Given the description of an element on the screen output the (x, y) to click on. 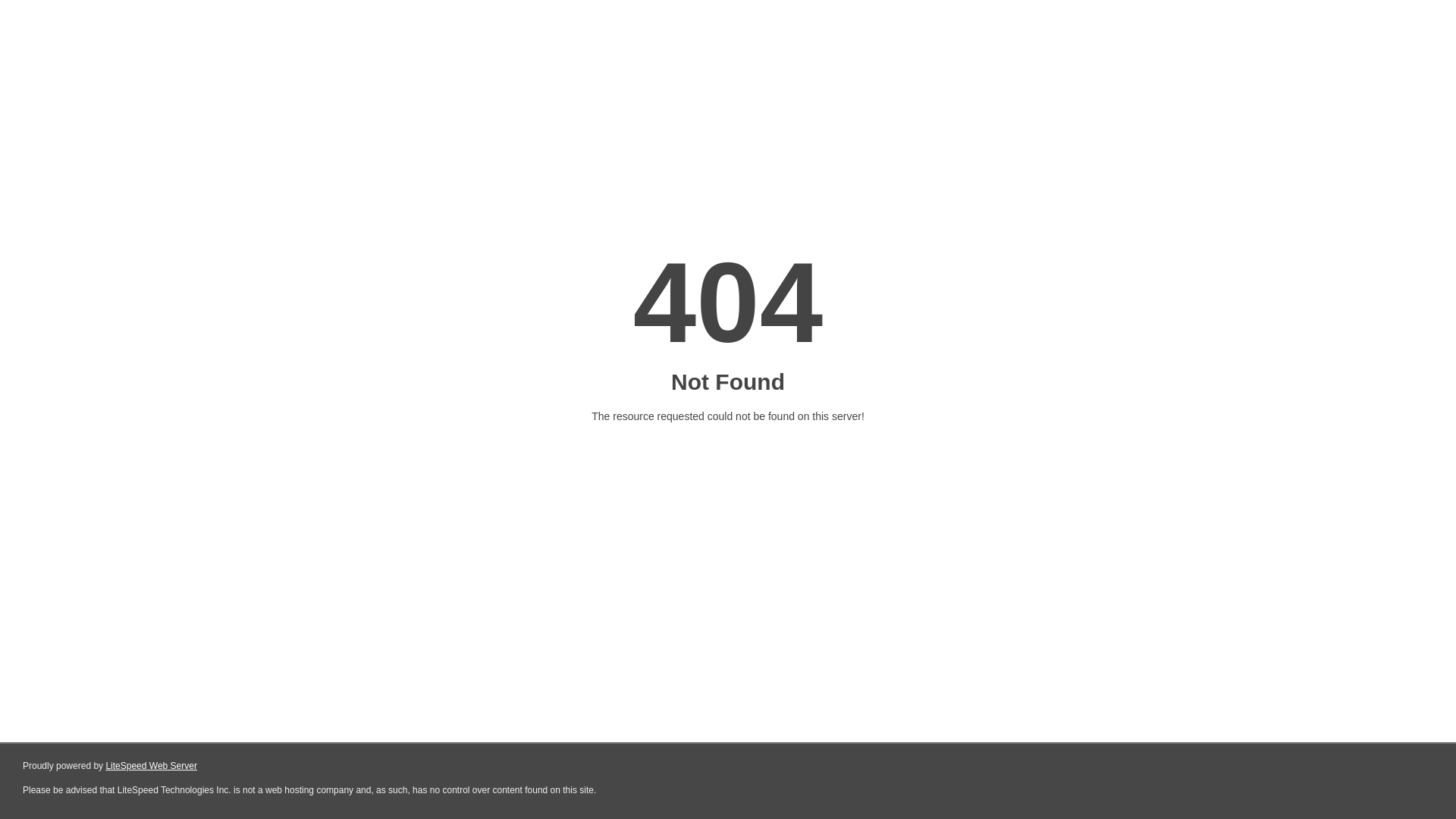
LiteSpeed Web Server Element type: text (151, 765)
